Given the description of an element on the screen output the (x, y) to click on. 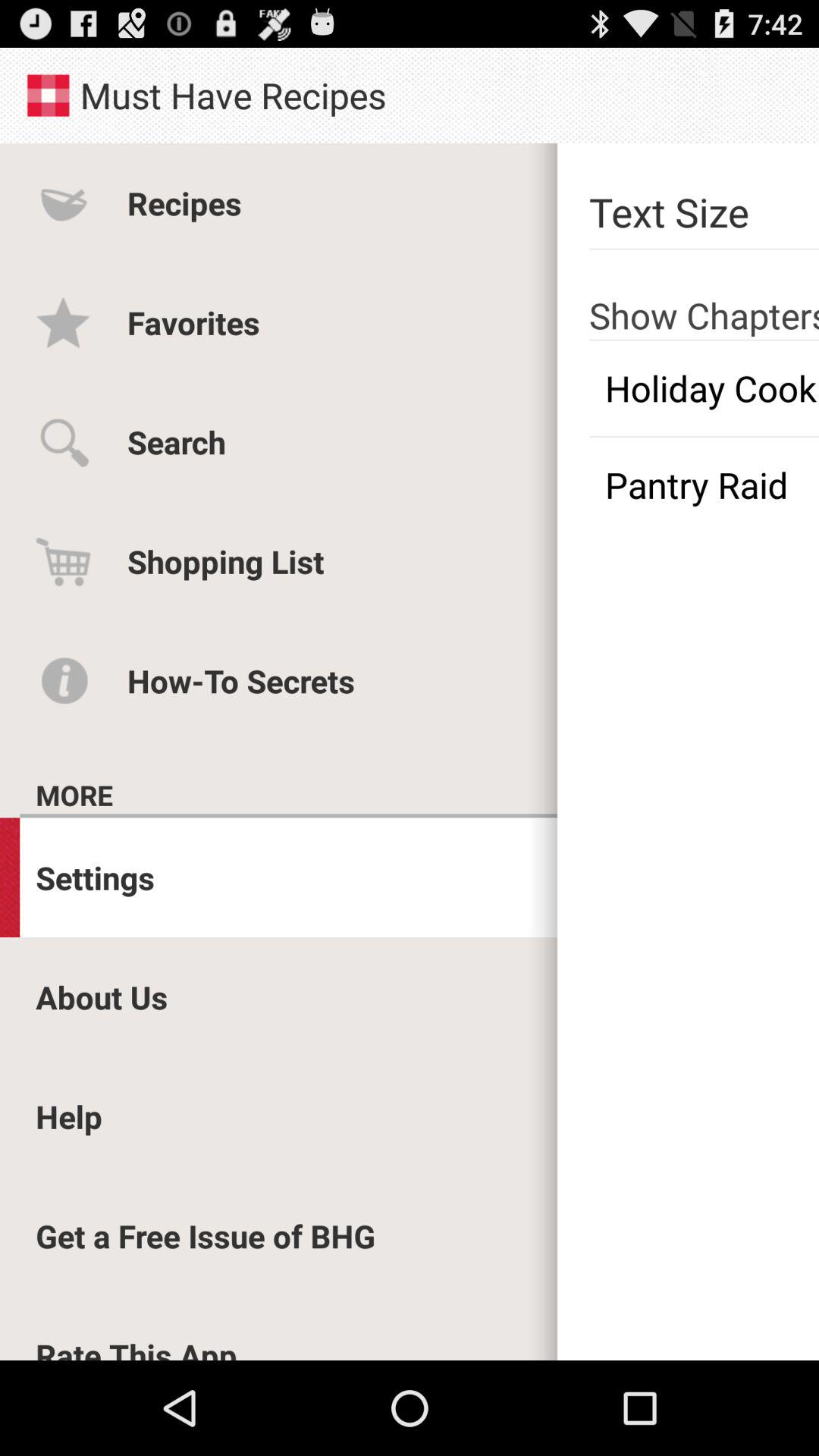
tap the app next to the shopping list icon (704, 484)
